Given the description of an element on the screen output the (x, y) to click on. 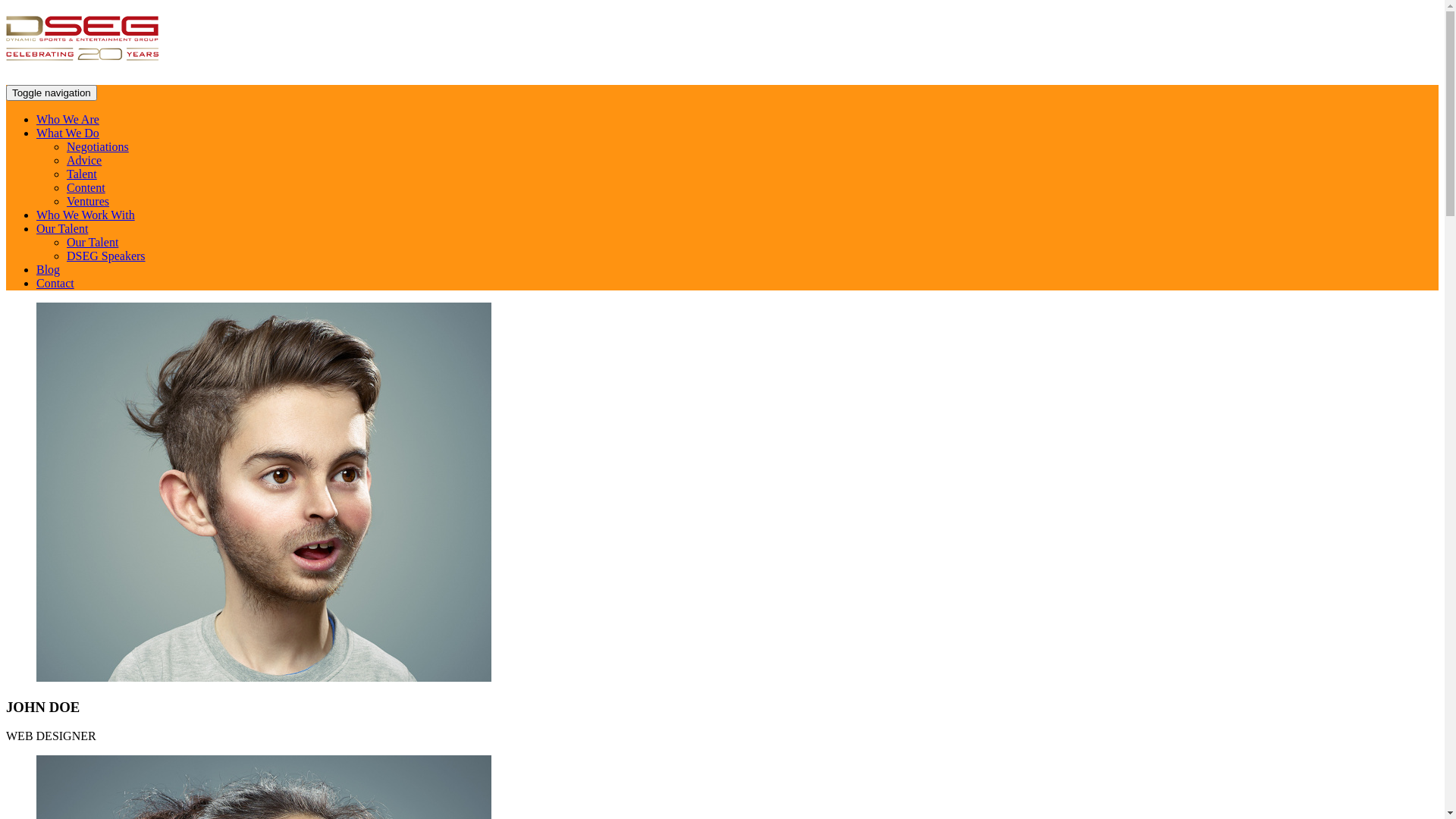
Contact Element type: text (55, 282)
Who We Work With Element type: text (85, 214)
Our Talent Element type: text (61, 228)
Talent Element type: text (81, 173)
Negotiations Element type: text (97, 146)
Who We Are Element type: text (67, 118)
What We Do Element type: text (67, 132)
Blog Element type: text (47, 269)
DSEG Speakers Element type: text (105, 255)
Toggle navigation Element type: text (51, 92)
Ventures Element type: text (87, 200)
Advice Element type: text (83, 159)
Our Talent Element type: text (92, 241)
Content Element type: text (85, 187)
